Given the description of an element on the screen output the (x, y) to click on. 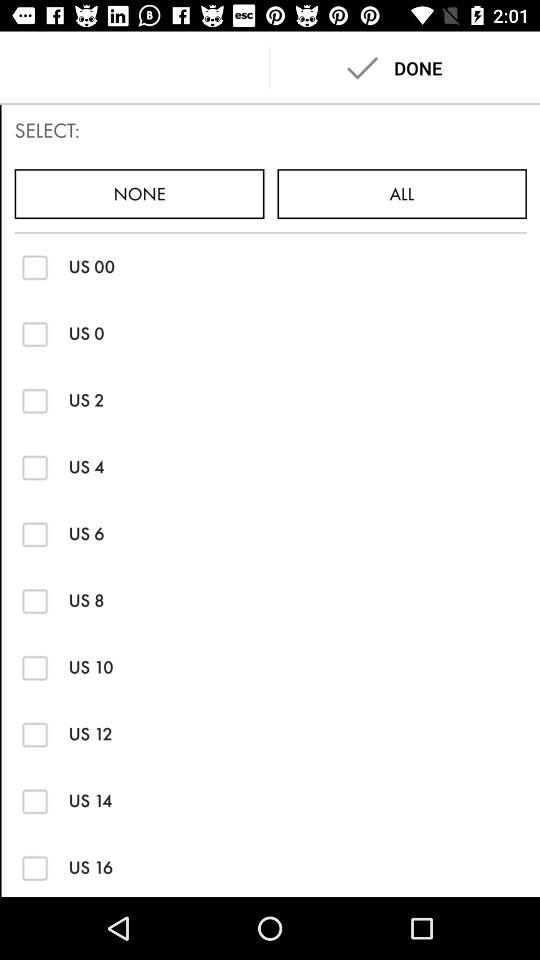
select us 14 (34, 800)
